Given the description of an element on the screen output the (x, y) to click on. 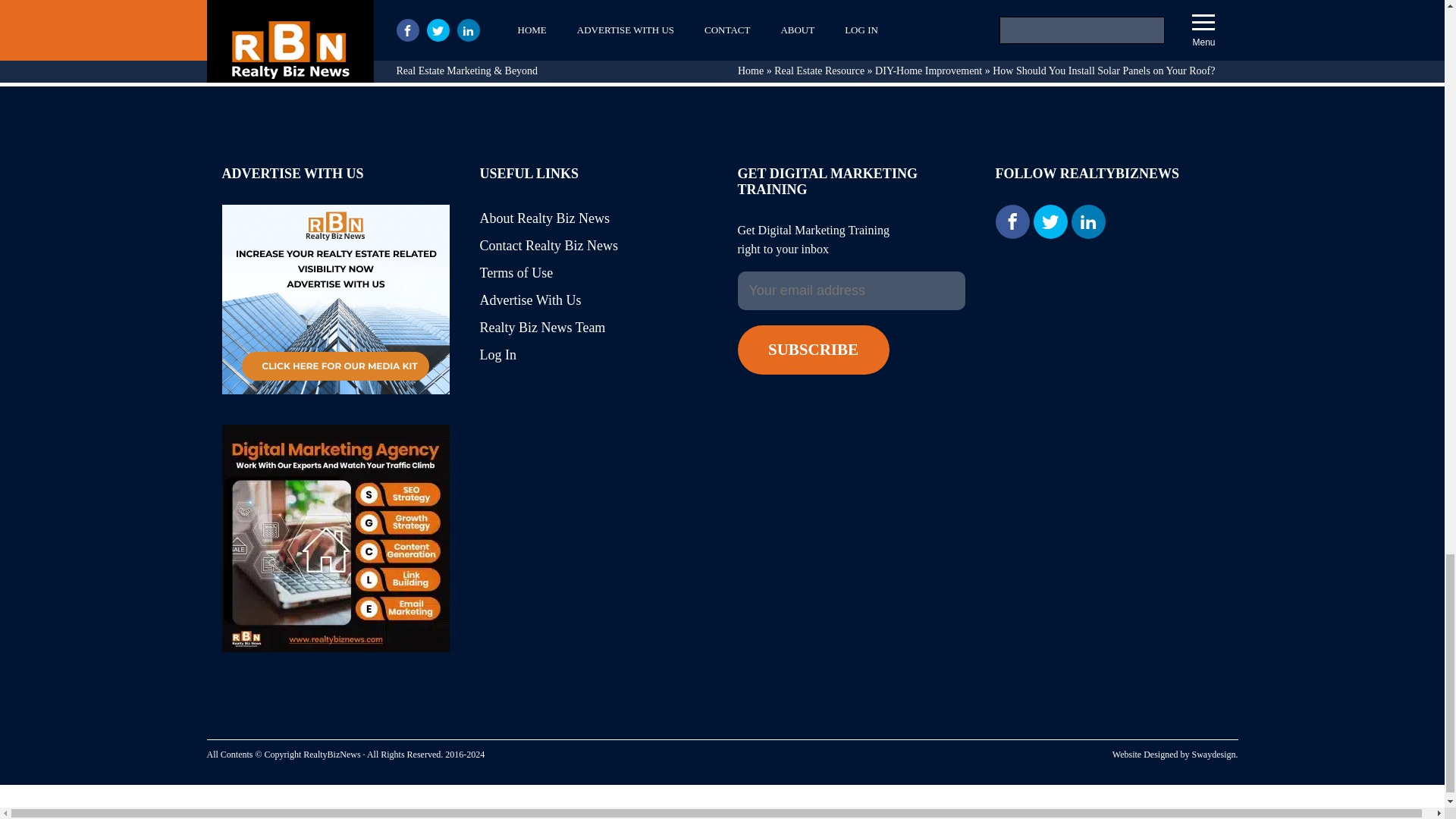
Subscribe (812, 349)
